Given the description of an element on the screen output the (x, y) to click on. 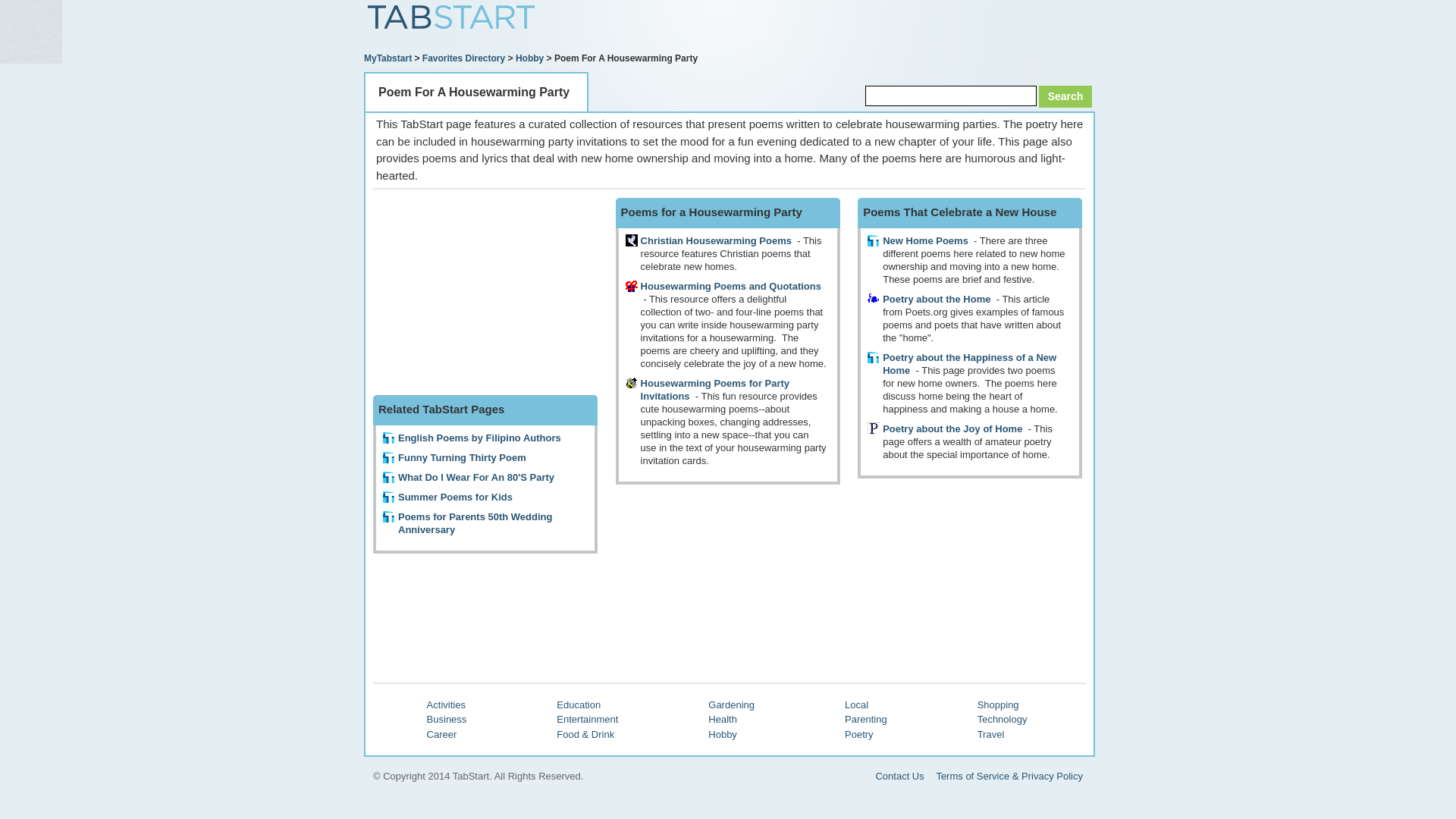
Business (446, 718)
Hobby (721, 734)
Poetry (858, 734)
Entertainment (586, 718)
English Poems by Filipino Authors (478, 437)
What Do I Wear For An 80'S Party (475, 477)
Poem For A Housewarming Party (473, 93)
Activities (445, 704)
Career (441, 734)
Technology (1001, 718)
Search (1065, 96)
Poetry about the Home (936, 298)
Advertisement (918, 27)
Hobby (529, 58)
Housewarming Poems and Quotations (730, 285)
